Given the description of an element on the screen output the (x, y) to click on. 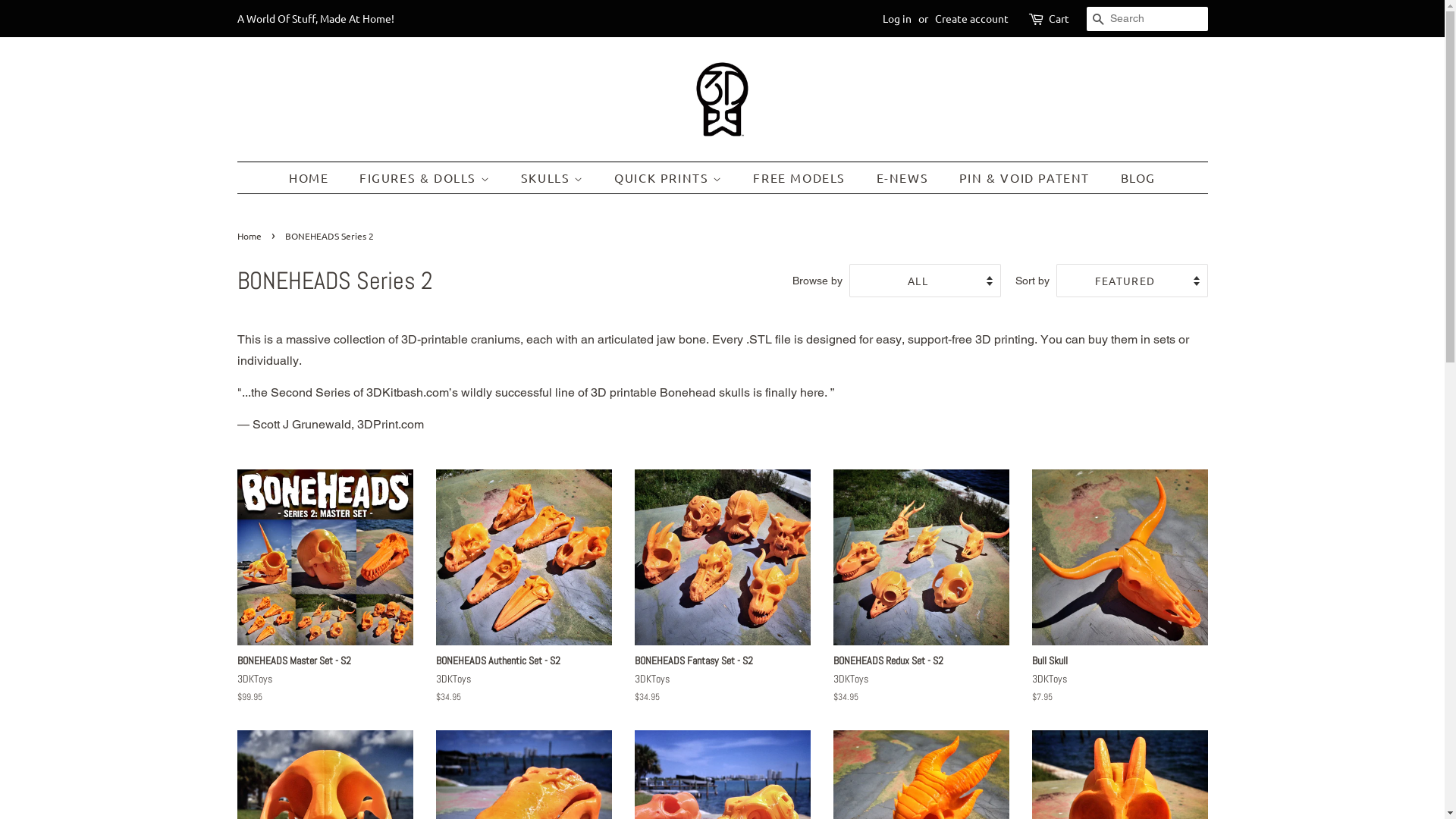
QUICK PRINTS Element type: text (669, 177)
Log in Element type: text (896, 18)
Cart Element type: text (1058, 18)
BLOG Element type: text (1132, 177)
HOME Element type: text (315, 177)
SKULLS Element type: text (554, 177)
Create account Element type: text (970, 18)
PIN & VOID PATENT Element type: text (1025, 177)
BONEHEADS Authentic Set - S2
3DKToys
Regular price
$34.95 Element type: text (523, 599)
Bull Skull
3DKToys
Regular price
$7.95 Element type: text (1119, 599)
FREE MODELS Element type: text (800, 177)
SEARCH Element type: text (1097, 18)
Home Element type: text (250, 235)
BONEHEADS Fantasy Set - S2
3DKToys
Regular price
$34.95 Element type: text (721, 599)
BONEHEADS Master Set - S2
3DKToys
Regular price
$99.95 Element type: text (324, 599)
E-NEWS Element type: text (904, 177)
FIGURES & DOLLS Element type: text (426, 177)
BONEHEADS Redux Set - S2
3DKToys
Regular price
$34.95 Element type: text (920, 599)
